Given the description of an element on the screen output the (x, y) to click on. 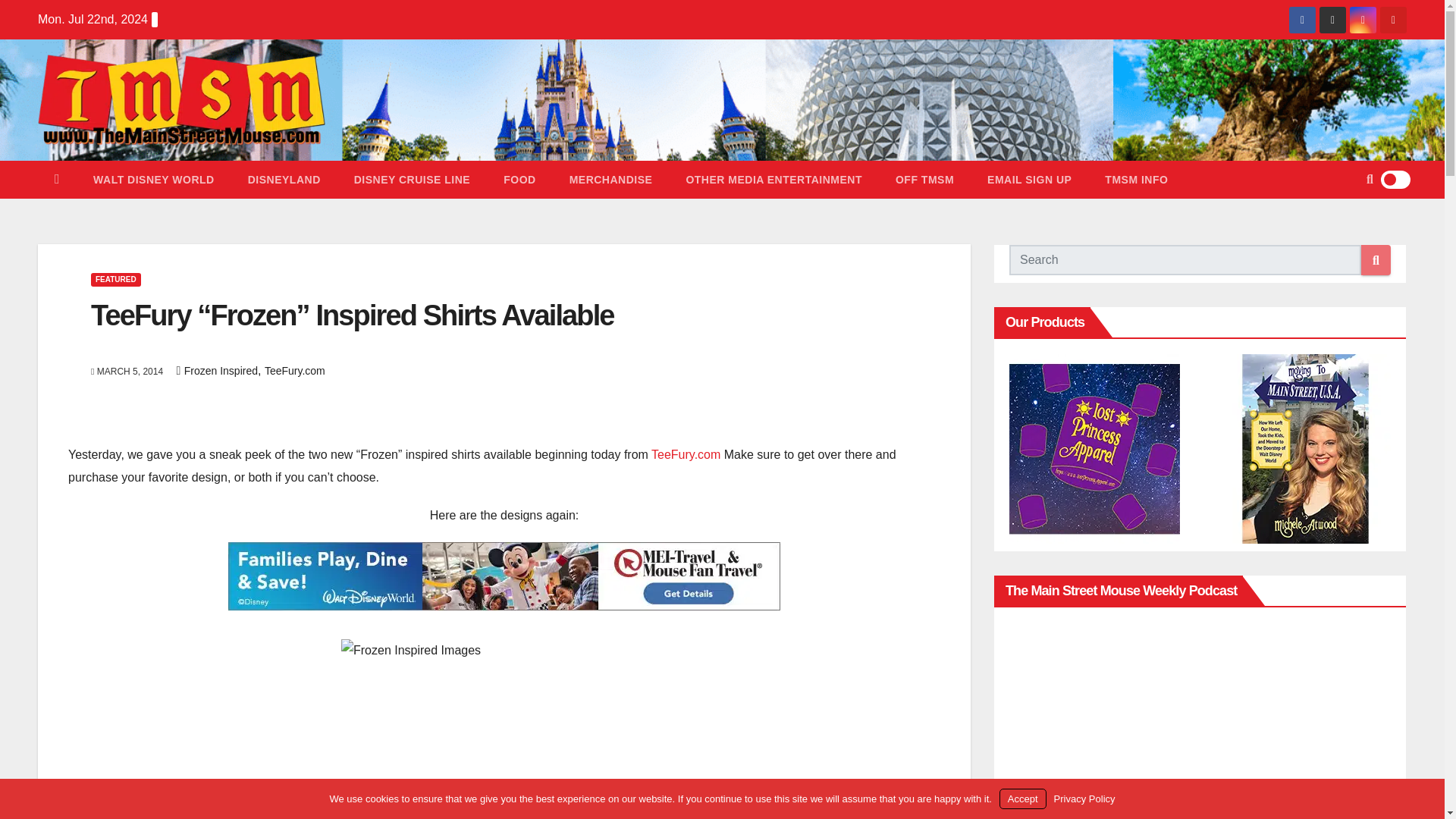
DISNEYLAND (284, 179)
Other Media Entertainment (773, 179)
Walt Disney World (154, 179)
OFF TMSM (925, 179)
TeeFury.com (294, 370)
EMAIL SIGN UP (1029, 179)
DISNEY CRUISE LINE (411, 179)
Merchandise (611, 179)
WALT DISNEY WORLD (154, 179)
TeeFury.com (685, 454)
Off TMSM (925, 179)
Frozen Inspired (220, 370)
Home (57, 179)
TMSM INFO (1136, 179)
OTHER MEDIA ENTERTAINMENT (773, 179)
